Given the description of an element on the screen output the (x, y) to click on. 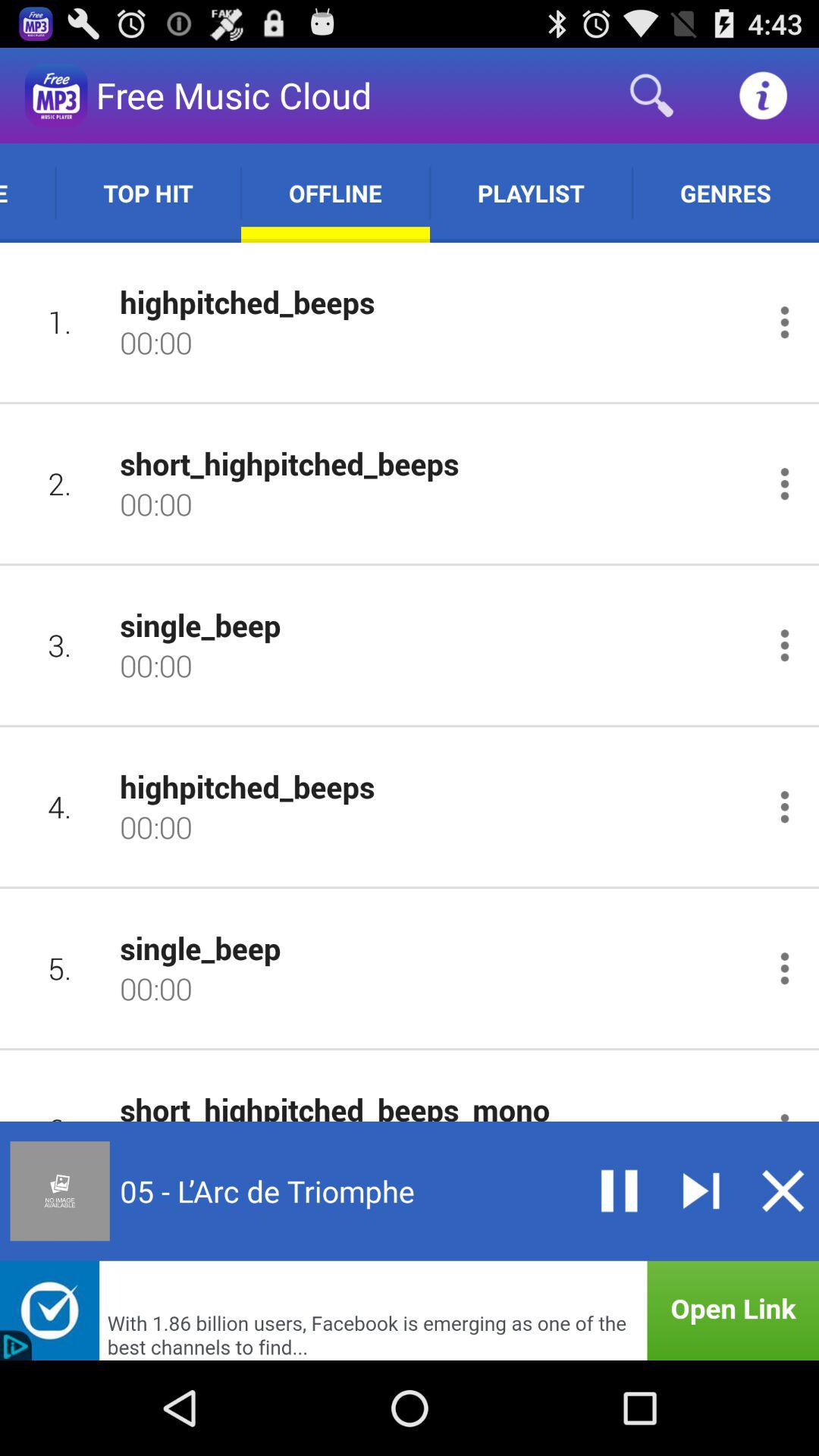
open icon to the left of single_beep (59, 968)
